Given the description of an element on the screen output the (x, y) to click on. 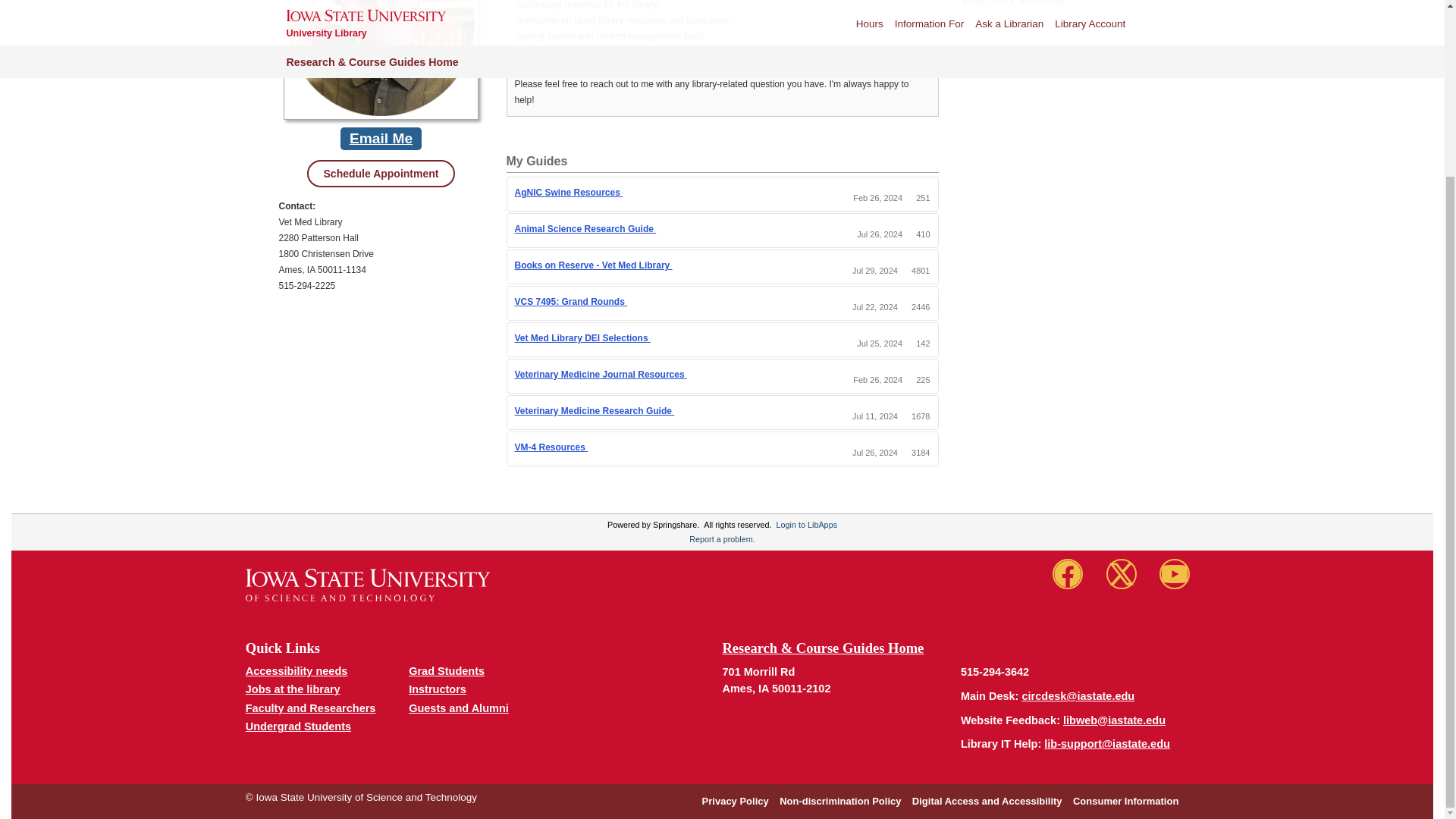
Animal Science Research Guide (584, 228)
VM-4 Resources (550, 447)
Views (922, 197)
Veterinary Medicine Journal Resources (599, 374)
Views (920, 307)
Vet Med Library DEI Selections (581, 337)
Last update (880, 234)
Last update (875, 270)
Views (922, 379)
Last update (880, 343)
Veterinary Medicine Research Guide (593, 410)
Schedule Appointment (381, 173)
View Guide Info (655, 338)
Views (922, 343)
Books on Reserve - Vet Med Library (592, 265)
